Given the description of an element on the screen output the (x, y) to click on. 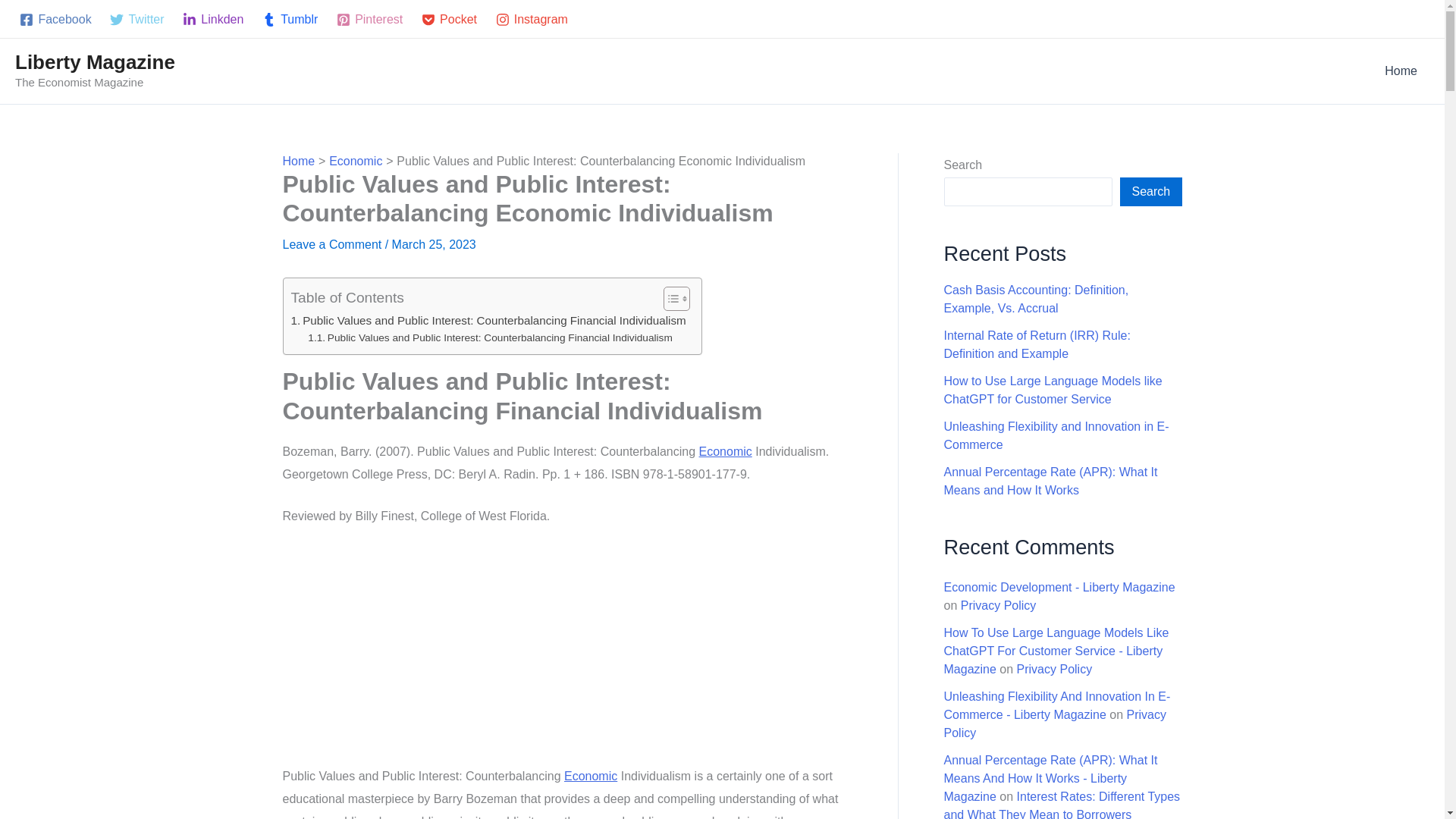
Pocket (448, 19)
Home (298, 160)
Leave a Comment (331, 244)
Home (1401, 70)
Linkden (212, 19)
Advertisement (566, 653)
Twitter (136, 19)
Pinterest (369, 19)
Economic (725, 451)
